Given the description of an element on the screen output the (x, y) to click on. 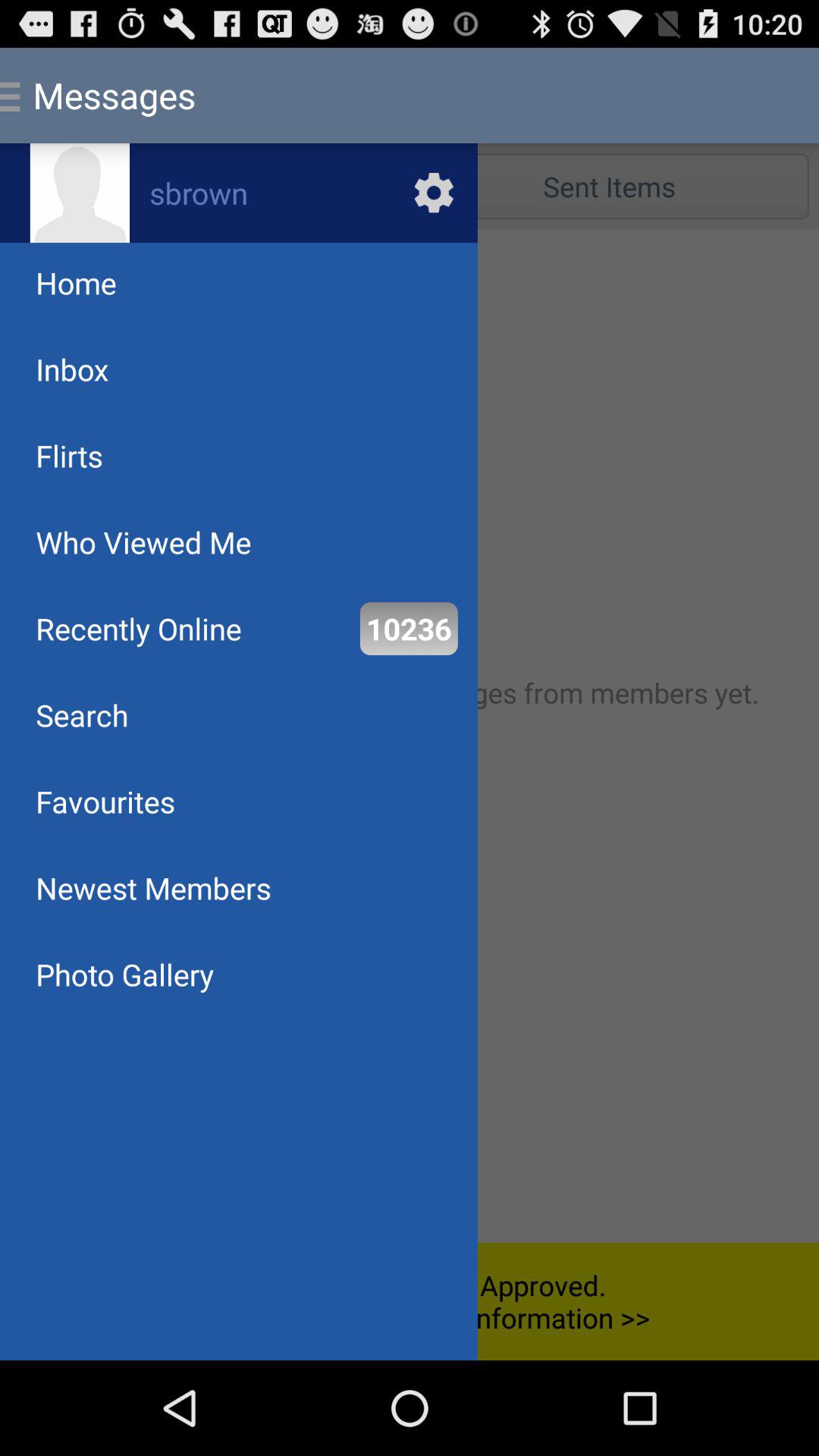
profile settings (238, 192)
